Given the description of an element on the screen output the (x, y) to click on. 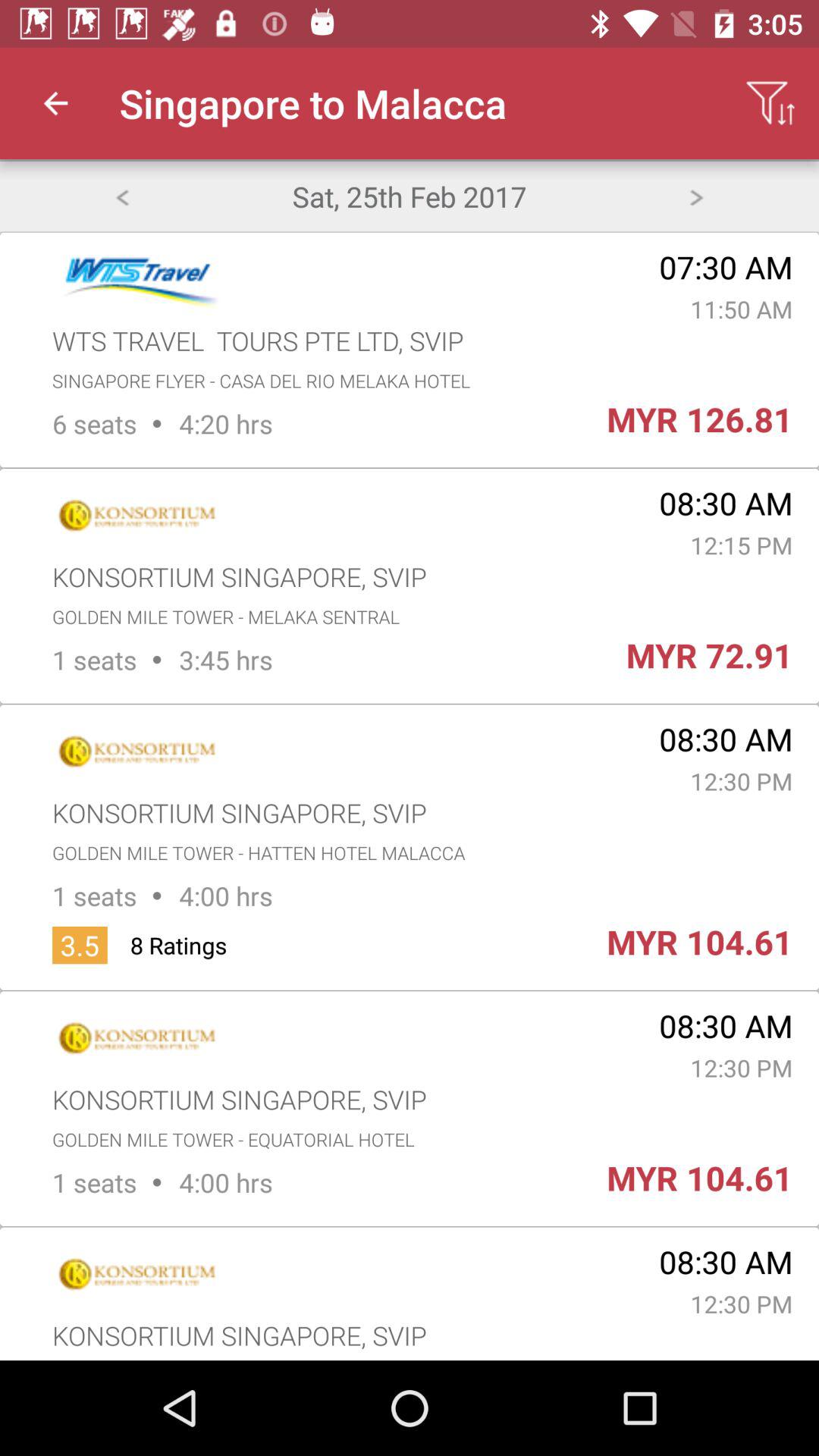
launch icon to the left of sat 25th feb (121, 196)
